Given the description of an element on the screen output the (x, y) to click on. 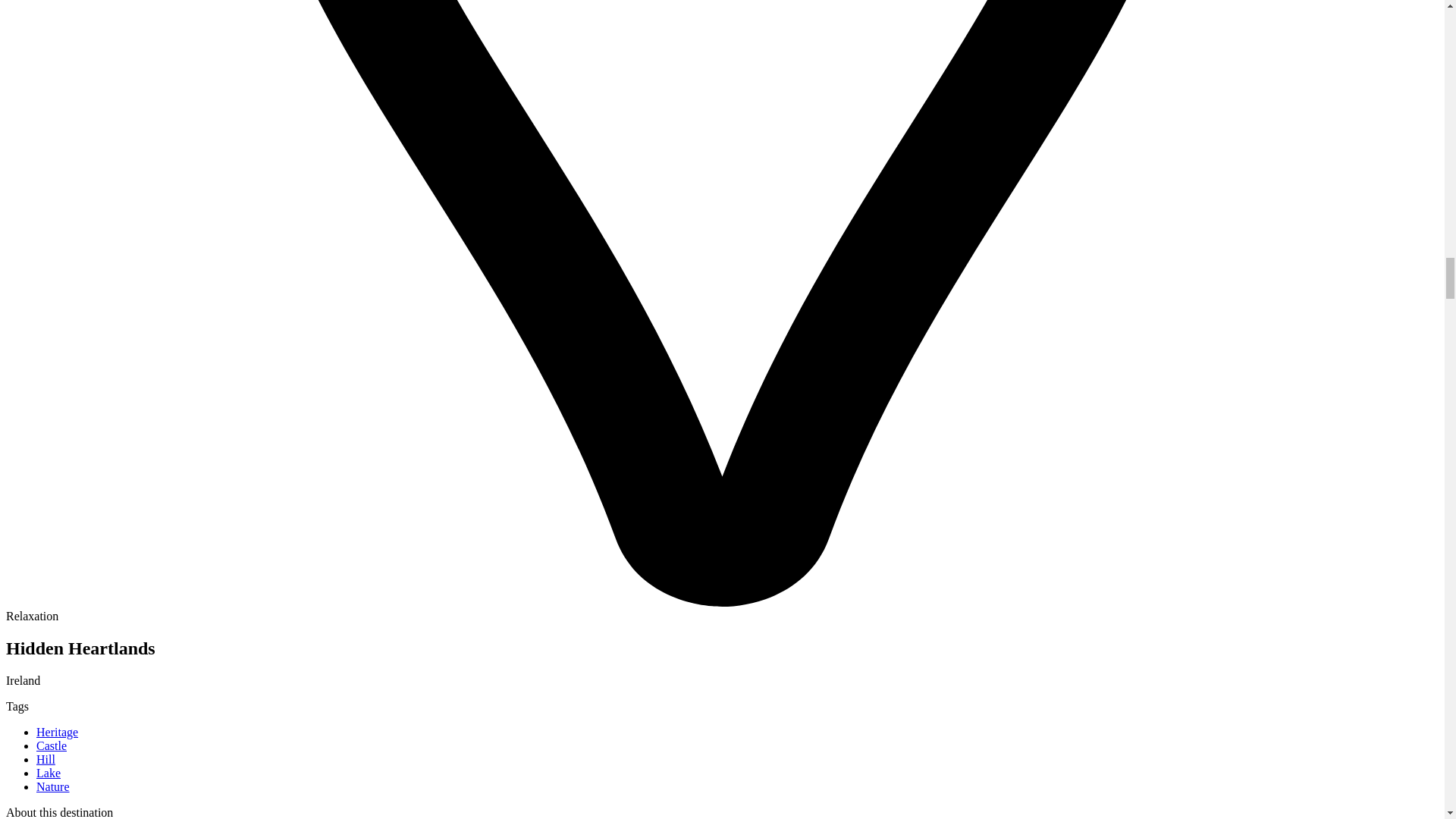
Hill (45, 758)
Castle (51, 745)
Heritage (57, 731)
Nature (52, 786)
Lake (48, 772)
